Given the description of an element on the screen output the (x, y) to click on. 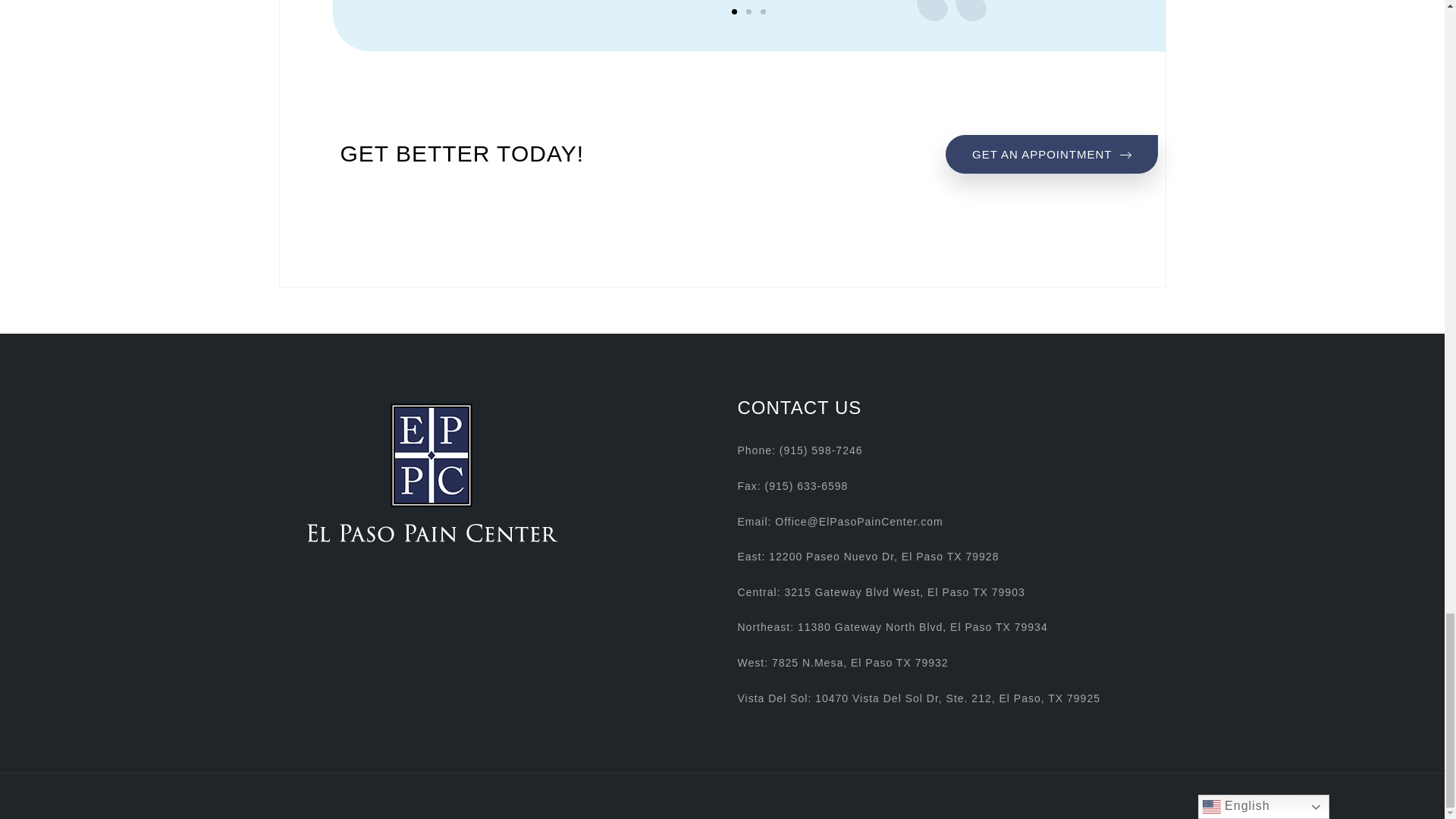
Central: 3215 Gateway Blvd West, El Paso TX 79903 (880, 592)
ARROW-ICON-SIZE3 (1125, 154)
Northeast: 11380 Gateway North Blvd, El Paso TX 79934 (891, 626)
East: 12200 Paseo Nuevo Dr, El Paso TX 79928 (867, 556)
West: 7825 N.Mesa, El Paso TX 79932 (1050, 154)
